Given the description of an element on the screen output the (x, y) to click on. 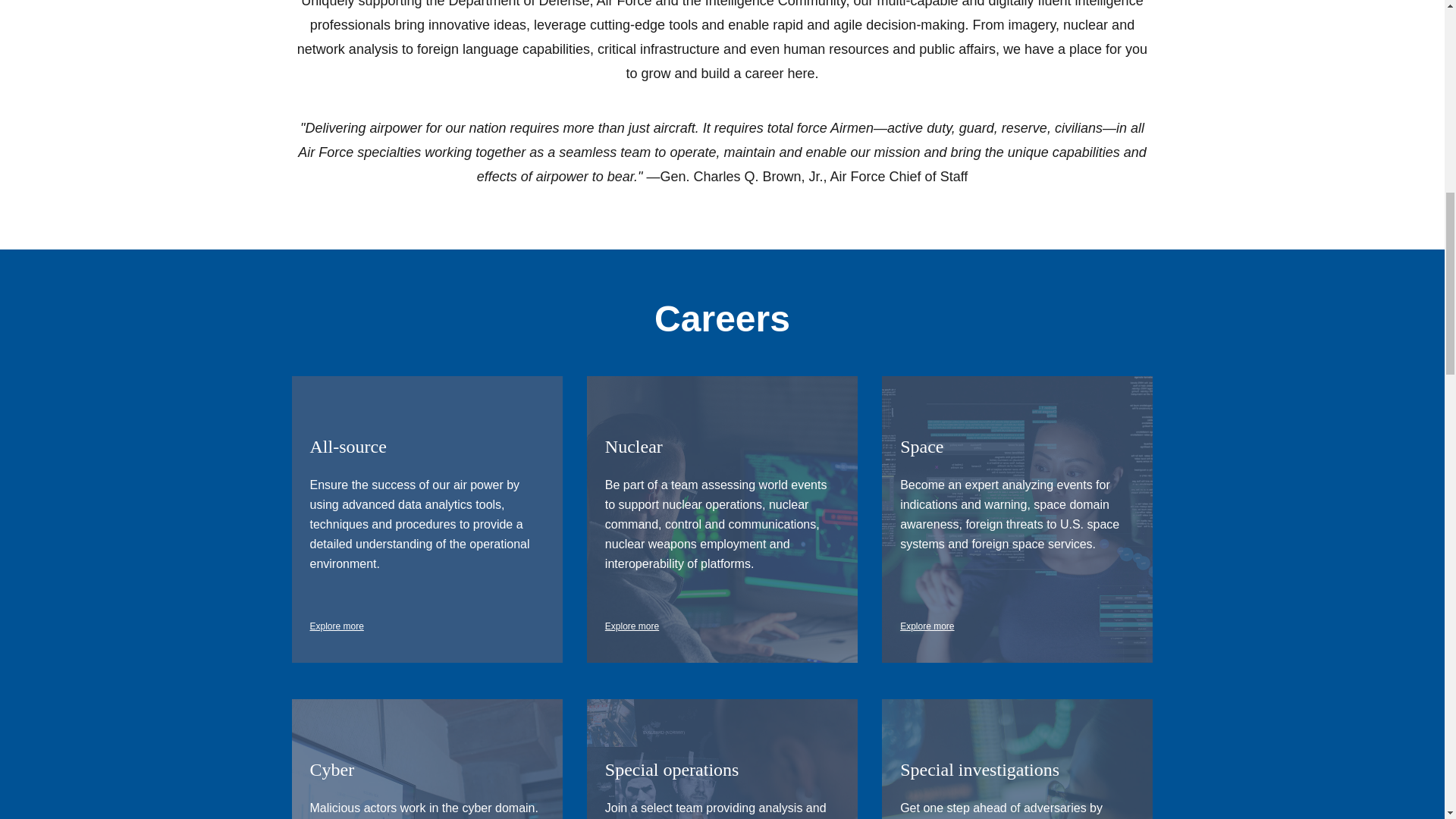
Explore more (335, 625)
Explore more (632, 625)
Explore more (926, 625)
